Given the description of an element on the screen output the (x, y) to click on. 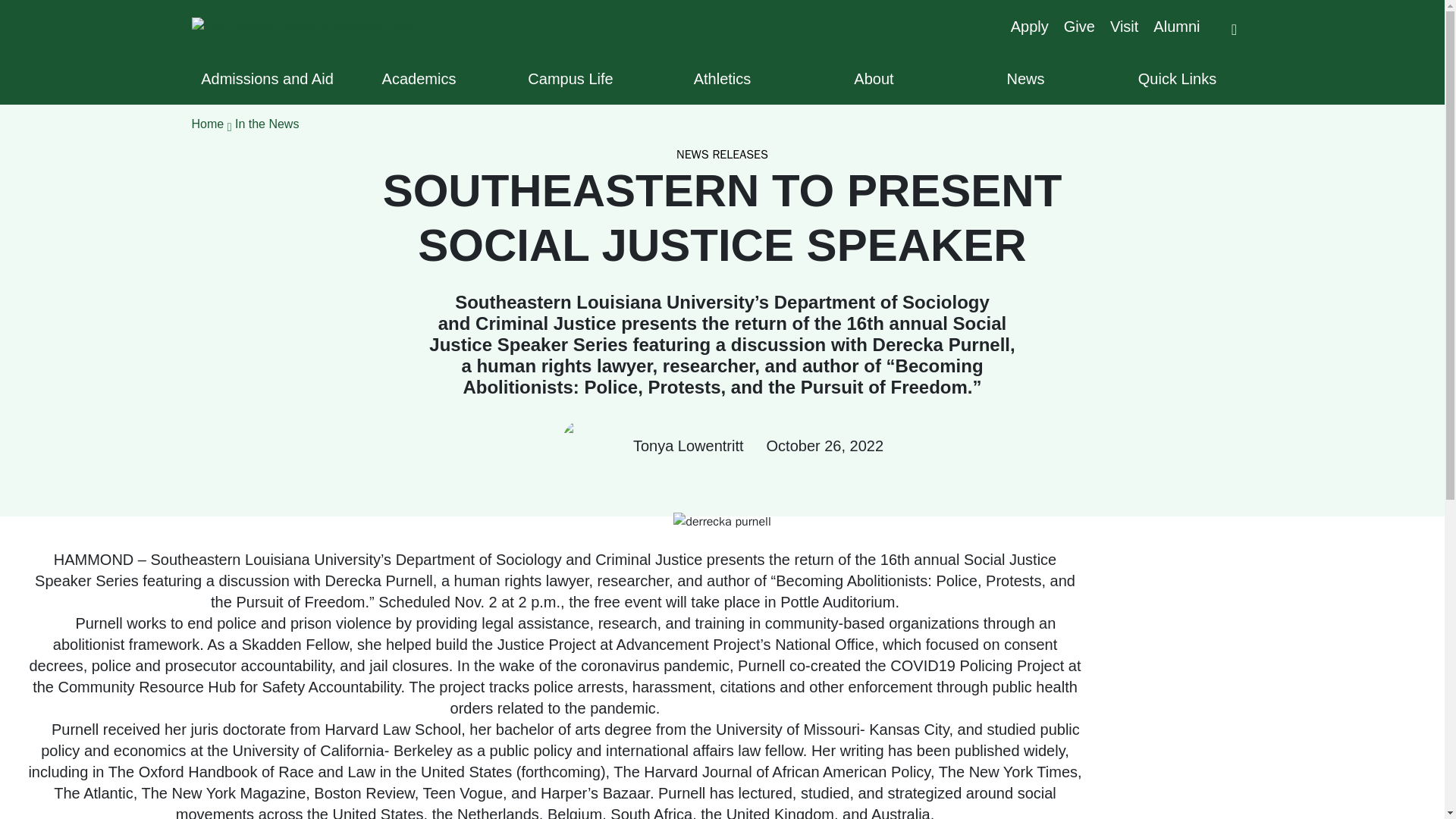
Give (1079, 26)
Admissions and Aid (266, 78)
Academics (418, 78)
Visit (1123, 26)
Apply (1029, 26)
Campus Life (570, 78)
Alumni (1176, 26)
